Given the description of an element on the screen output the (x, y) to click on. 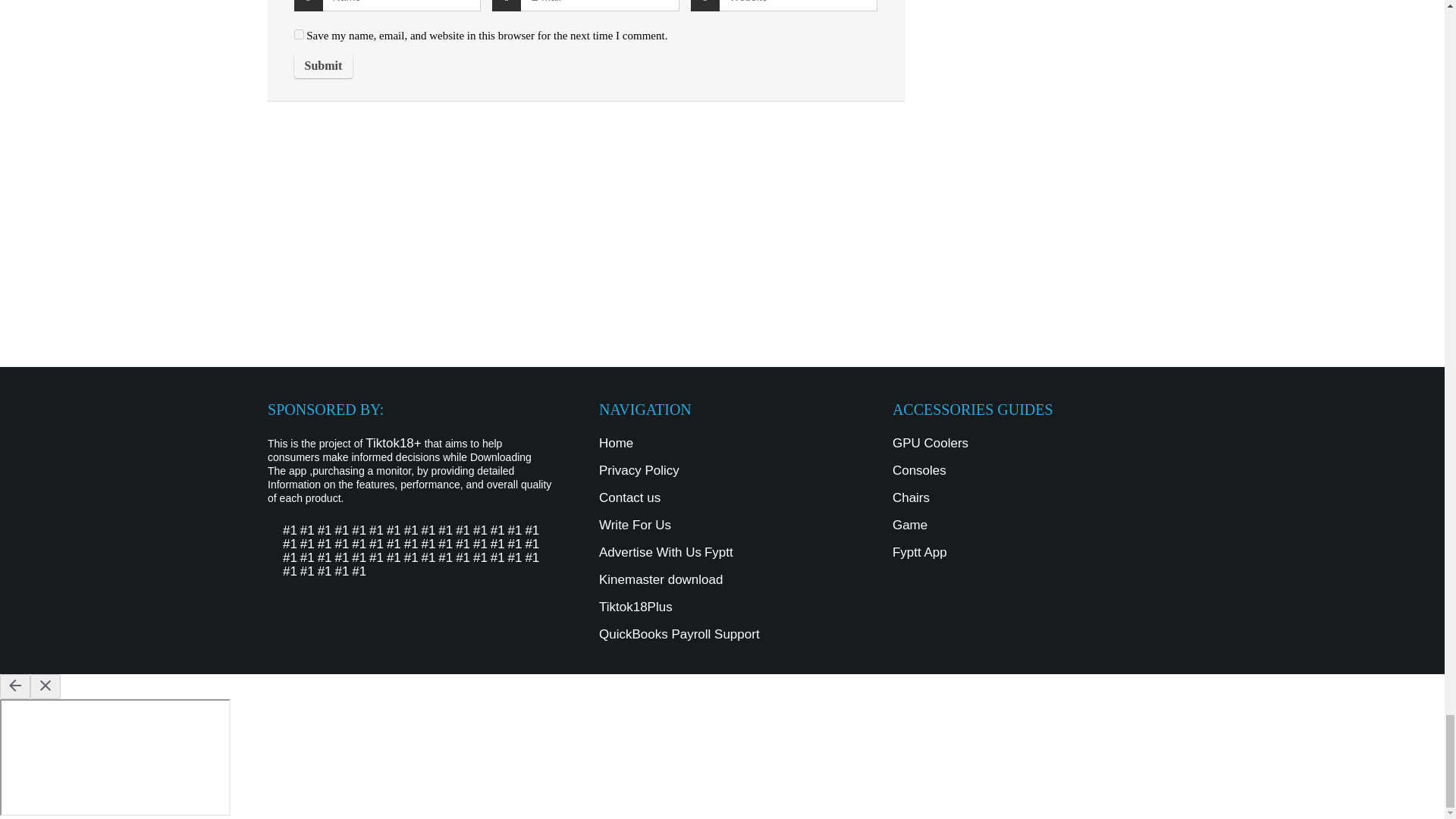
yes (299, 34)
Submit (323, 65)
